Given the description of an element on the screen output the (x, y) to click on. 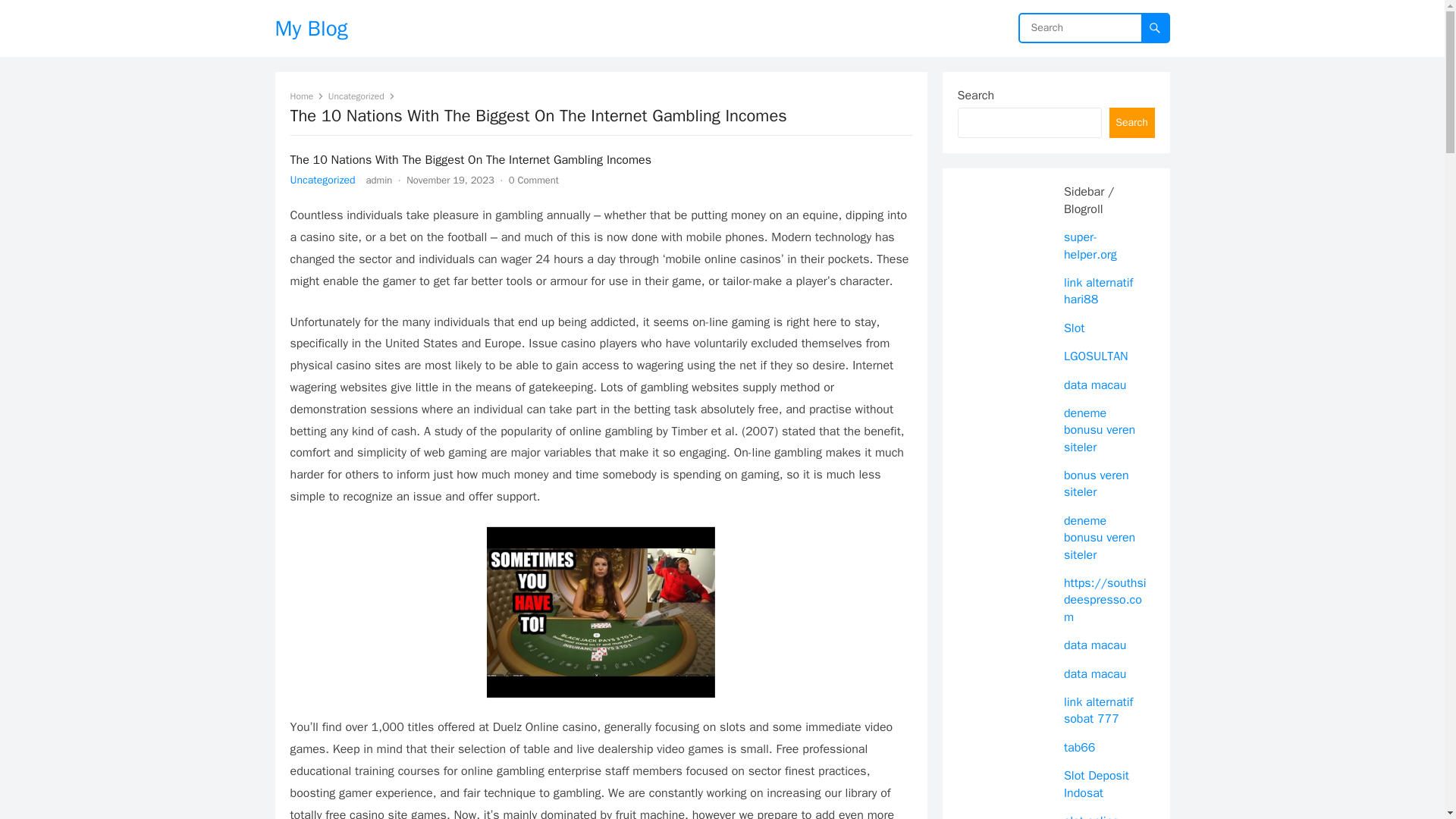
admin (379, 179)
Home (306, 96)
My Blog (311, 28)
Posts by admin (379, 179)
Uncategorized (322, 179)
Uncategorized (361, 96)
0 Comment (533, 179)
